Given the description of an element on the screen output the (x, y) to click on. 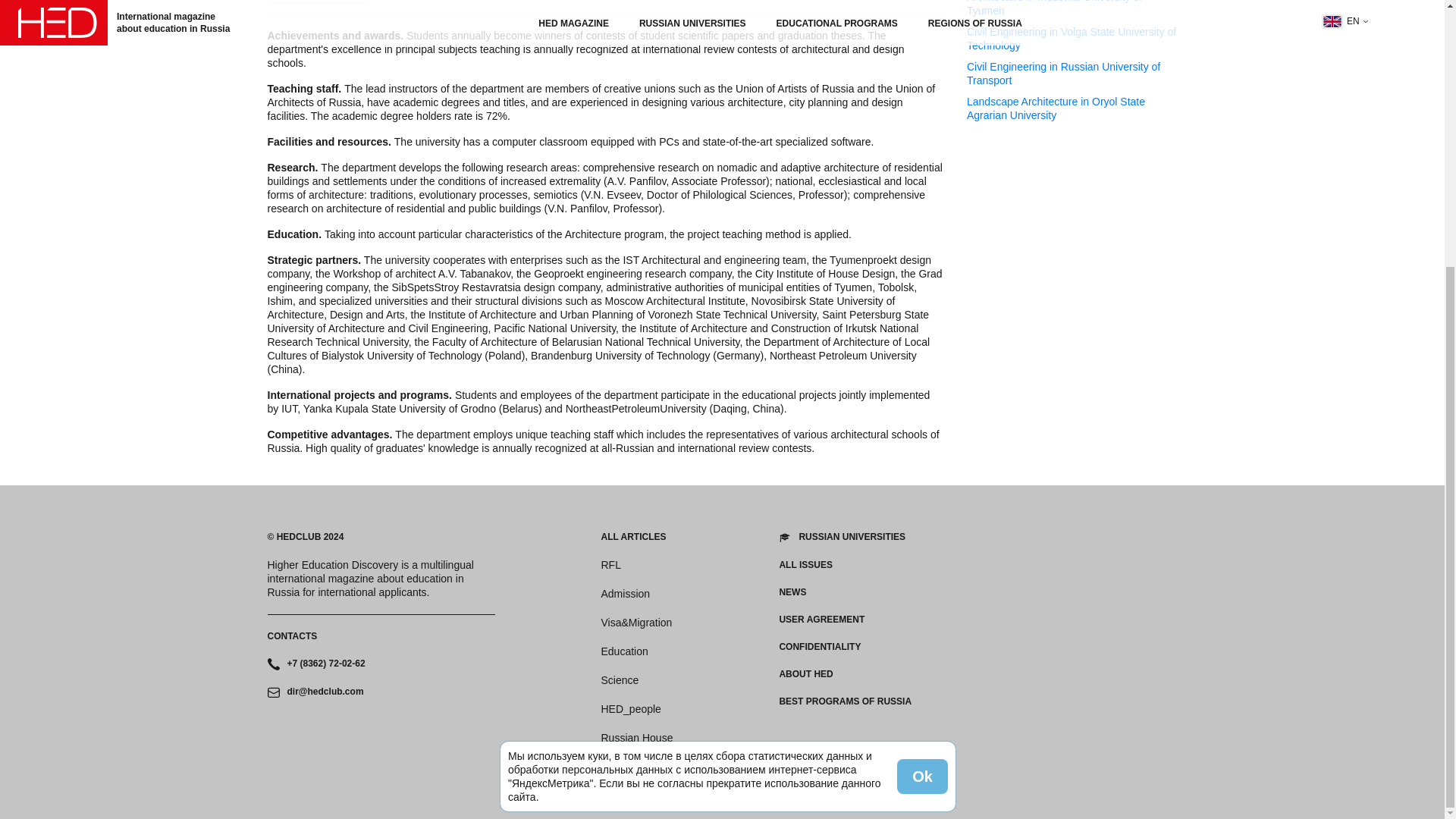
Civil Engineering in Volga State University of Technology (1071, 38)
ALL ARTICLES (632, 536)
Civil Engineering in Russian University of Transport (1071, 72)
Landscape Architecture in Oryol State Agrarian University (1071, 108)
Admission (624, 593)
RFL (609, 564)
Architecture in Industrial University of Tyumen (1071, 8)
